Given the description of an element on the screen output the (x, y) to click on. 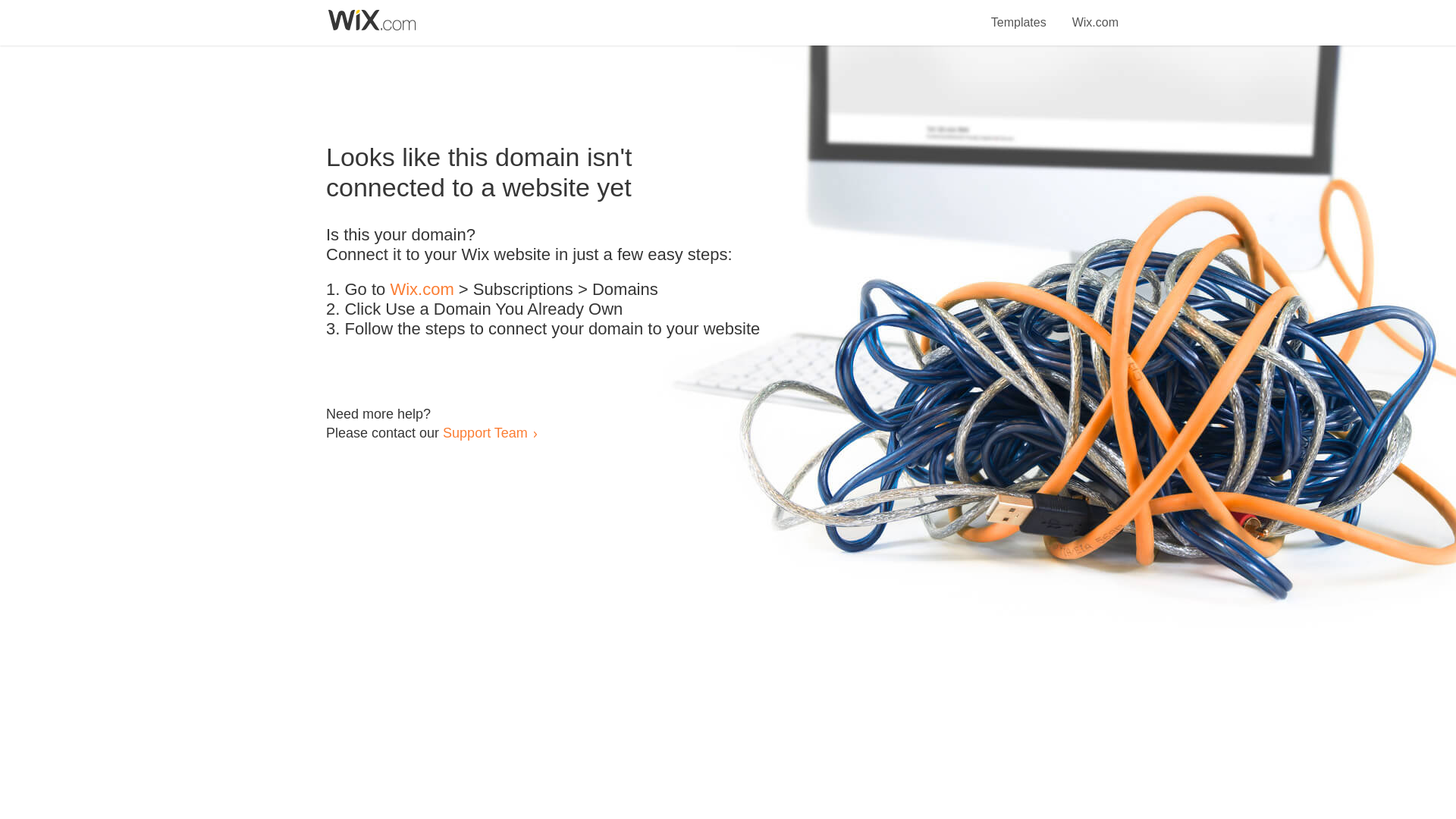
Wix.com (1095, 14)
Wix.com (421, 289)
Templates (1018, 14)
Support Team (484, 432)
